Given the description of an element on the screen output the (x, y) to click on. 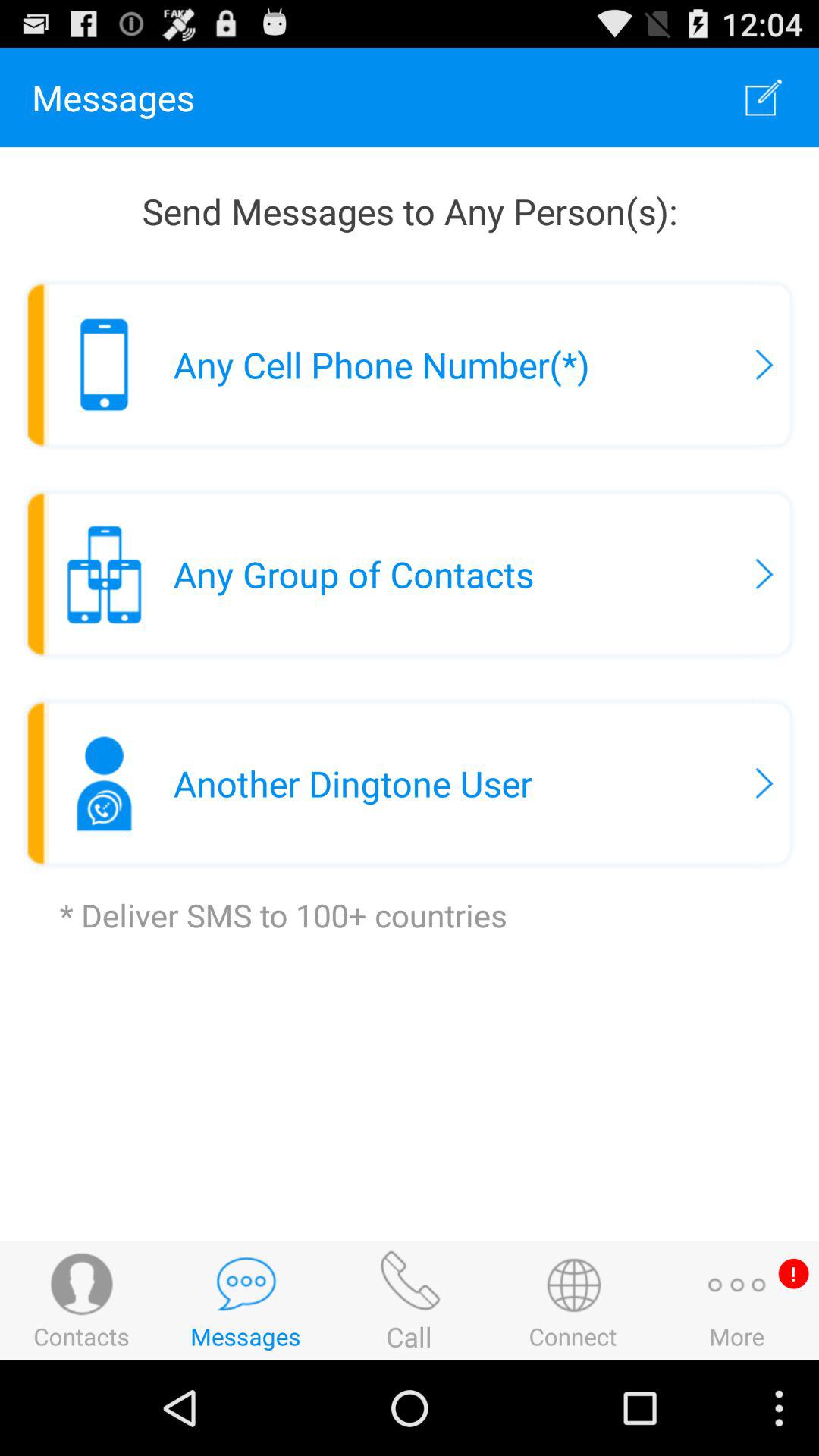
press app to the right of messages icon (763, 97)
